Given the description of an element on the screen output the (x, y) to click on. 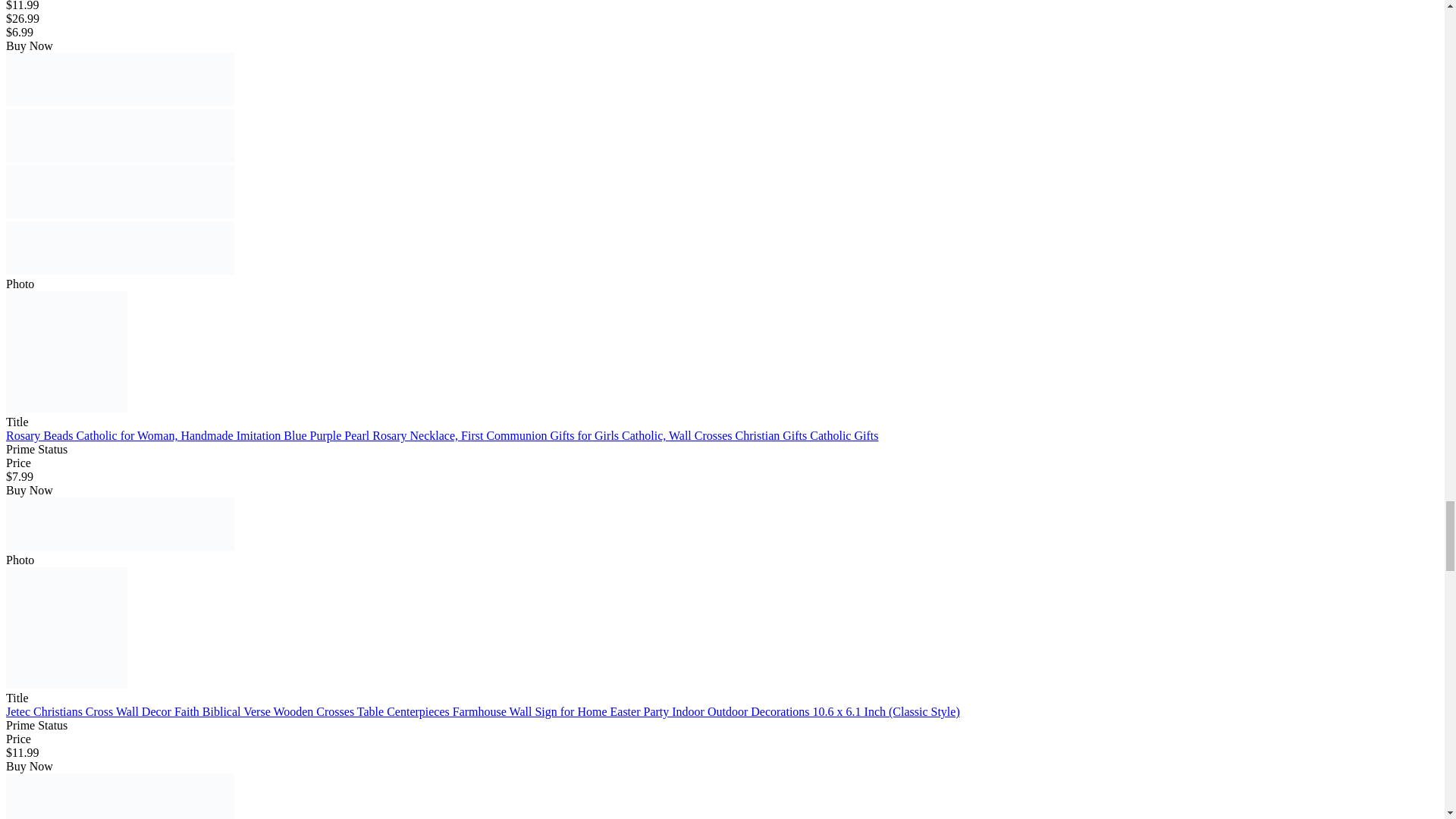
Buy On Amazon (119, 247)
Buy On Amazon (119, 523)
Buy On Amazon (119, 135)
Buy On Amazon (119, 191)
Buy On Amazon (119, 79)
